Given the description of an element on the screen output the (x, y) to click on. 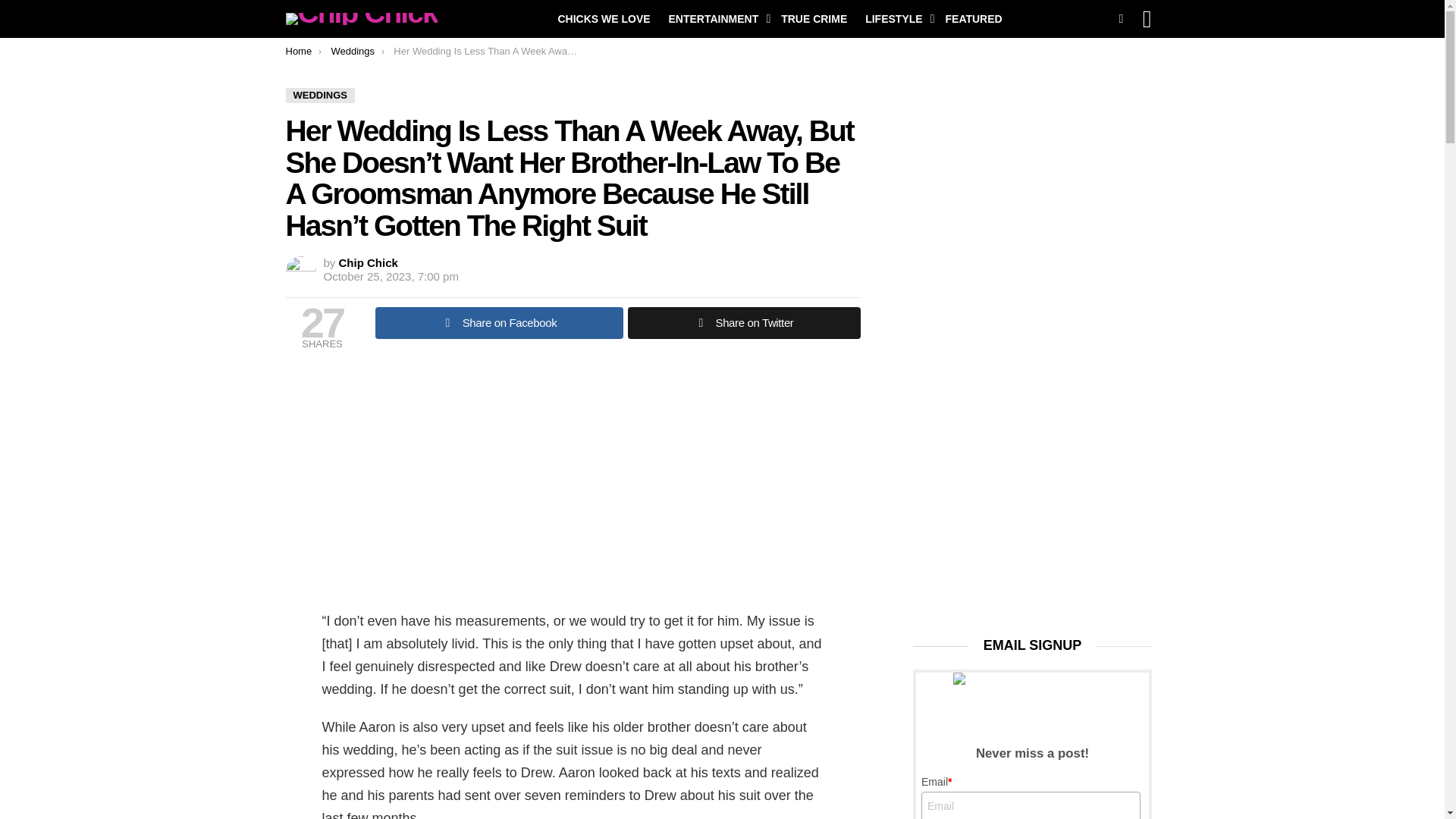
FEATURED (973, 18)
ENTERTAINMENT (716, 18)
Email (1030, 805)
CHICKS WE LOVE (604, 18)
LIFESTYLE (895, 18)
TRUE CRIME (813, 18)
Posts by Chip Chick (368, 262)
